Given the description of an element on the screen output the (x, y) to click on. 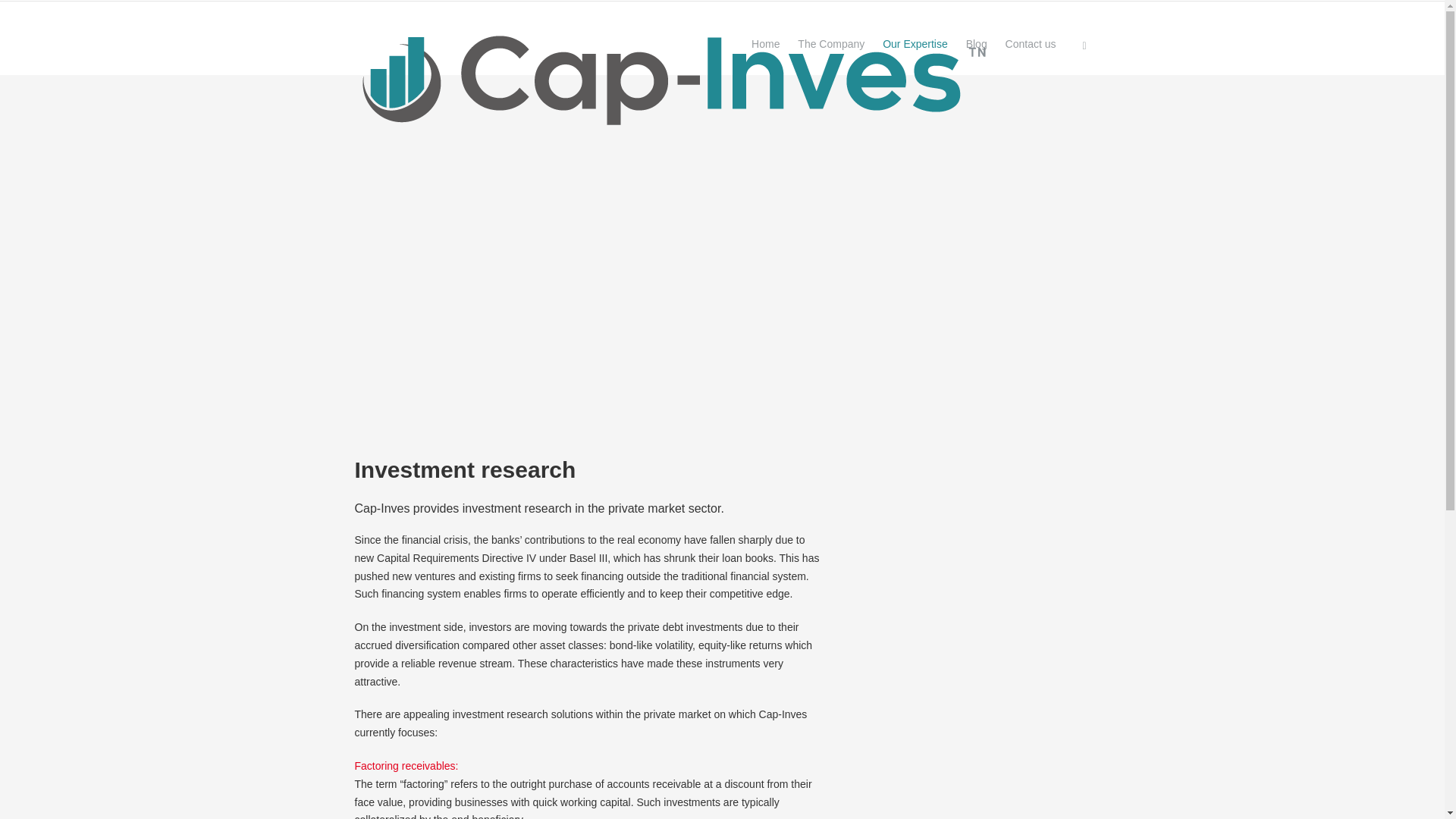
Contact us (1031, 45)
Our Expertise (914, 45)
The Company (830, 45)
